Given the description of an element on the screen output the (x, y) to click on. 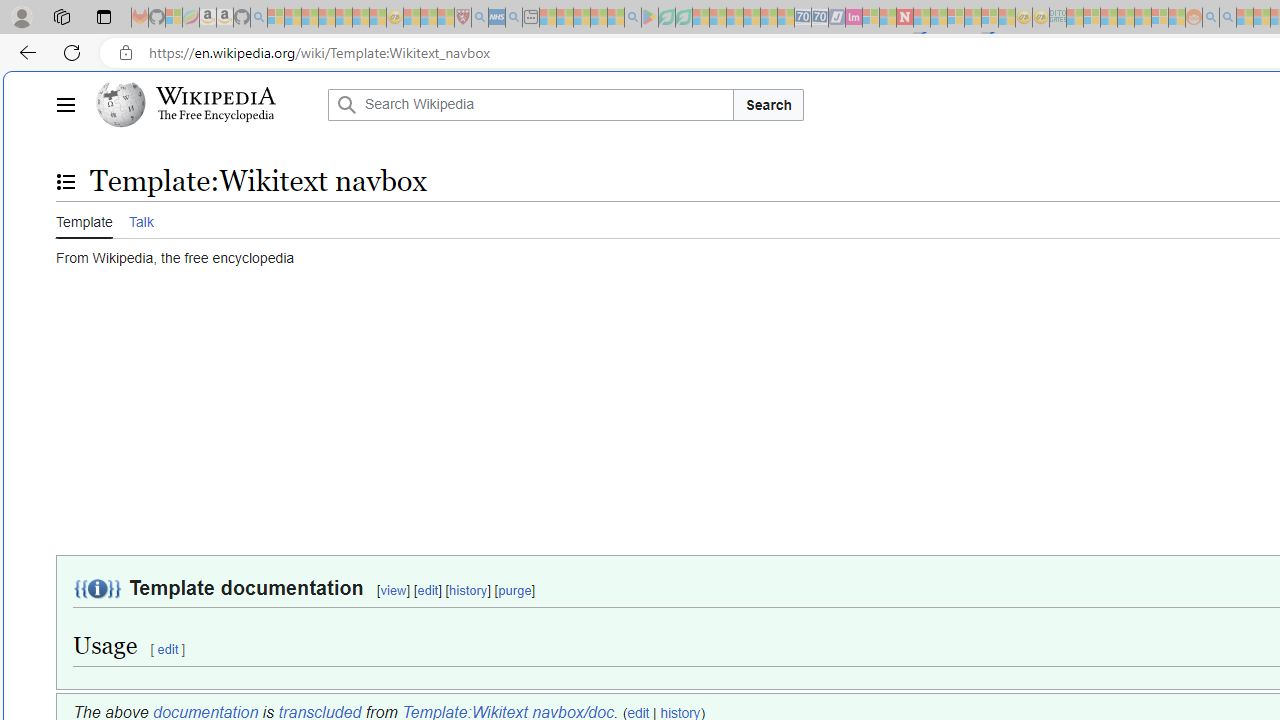
Search Wikipedia (530, 104)
